Given the description of an element on the screen output the (x, y) to click on. 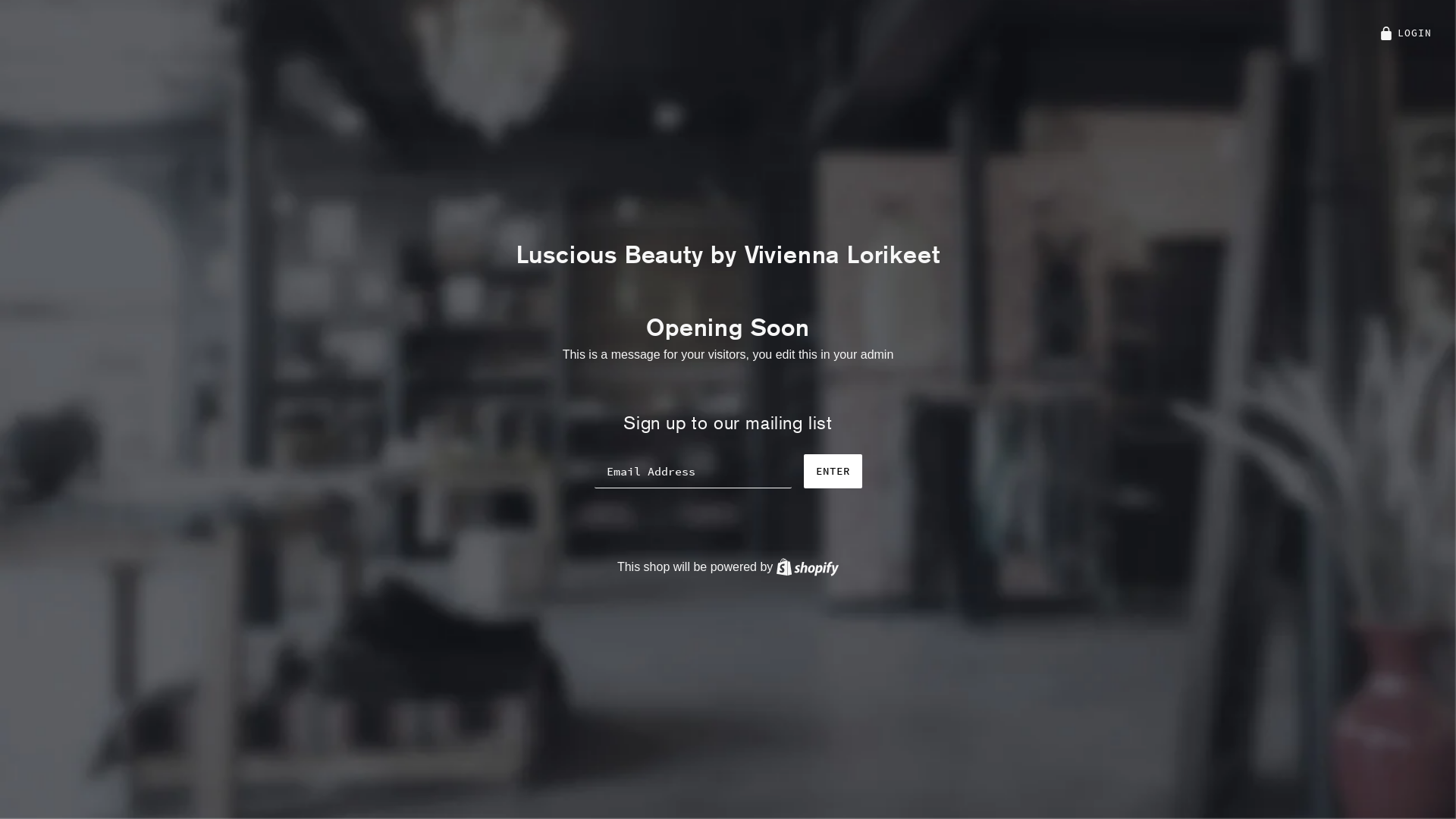
ENTER Element type: text (832, 471)
Luscious Beauty by Vivienna Lorikeet Element type: text (728, 254)
